Given the description of an element on the screen output the (x, y) to click on. 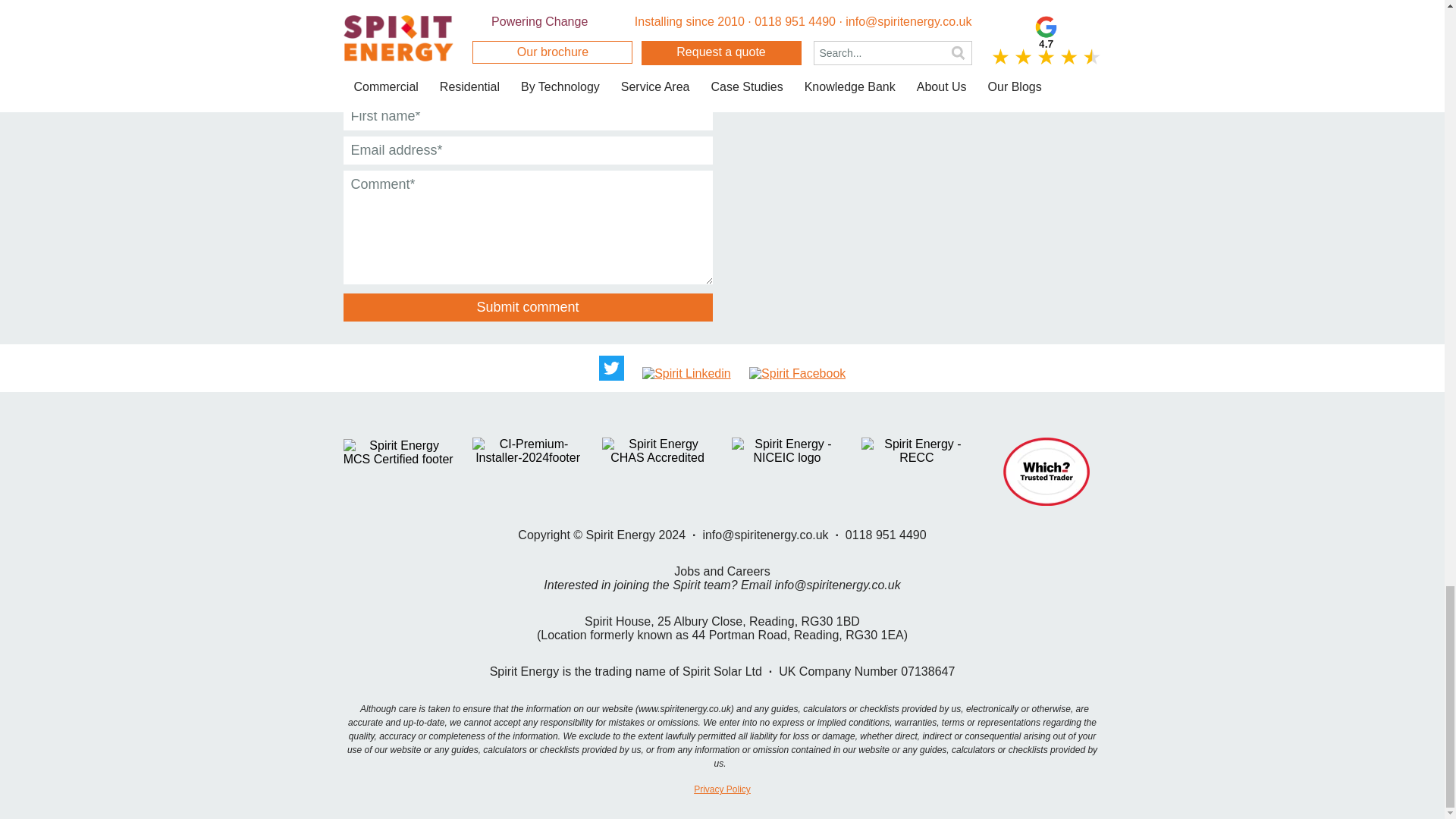
Spirit Energy Which? Trusted Trader certification review  (1046, 471)
Spirit Energy - NICEIC logo (786, 451)
Spirit Energy CHAS Accredited (656, 451)
Spirit Energy MCS Certified footer (397, 452)
CI-Premium-Installer-2024footer (526, 451)
Submit comment (526, 307)
Spirit Energy - RECC (916, 451)
